Given the description of an element on the screen output the (x, y) to click on. 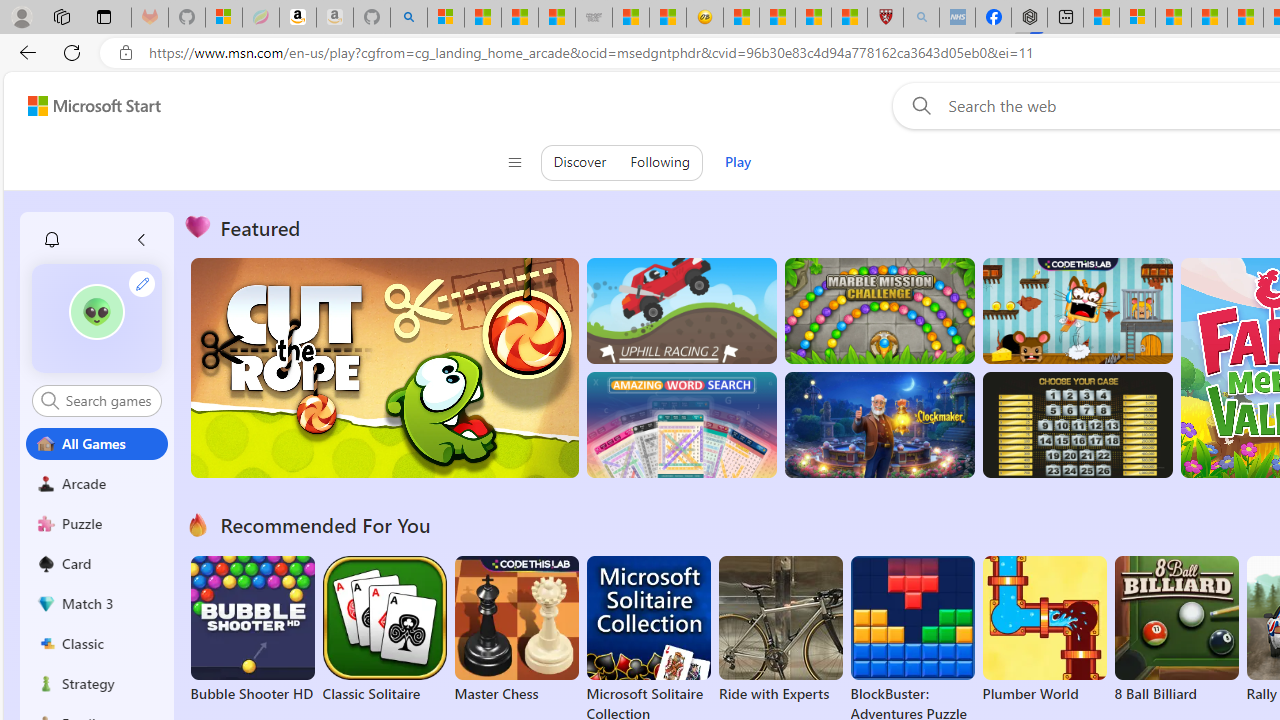
""'s avatar (97, 318)
Following (659, 162)
Skip to footer (82, 105)
Class: notification-item (51, 239)
Bubble Shooter HD (251, 629)
NCL Adult Asthma Inhaler Choice Guideline - Sleeping (957, 17)
Stocks - MSN (556, 17)
Play (737, 162)
Classic Solitaire (384, 629)
Microsoft-Report a Concern to Bing (223, 17)
Microsoft account | Privacy (1137, 17)
Discover (579, 161)
list of asthma inhalers uk - Search - Sleeping (921, 17)
